Given the description of an element on the screen output the (x, y) to click on. 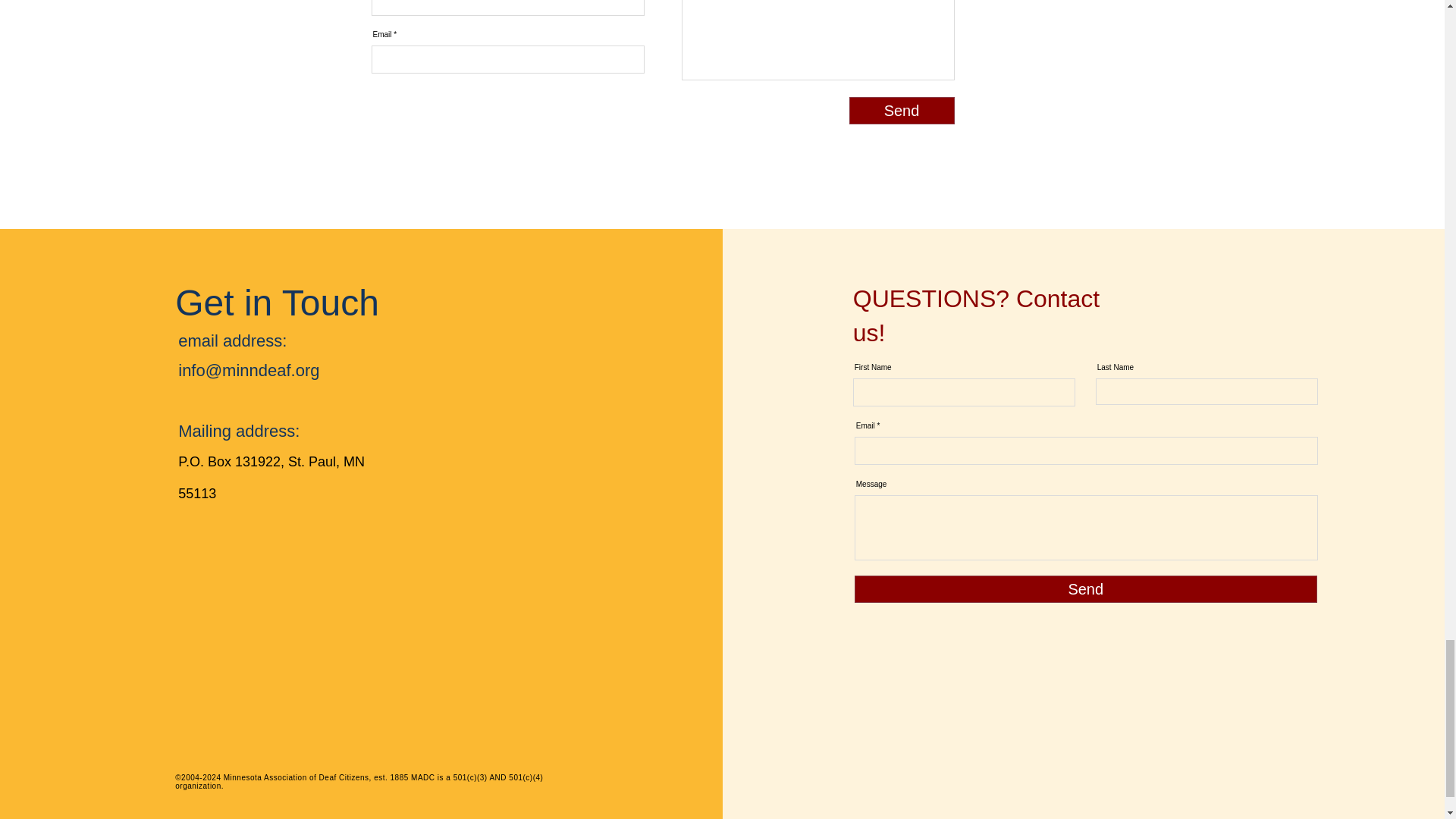
Send (901, 110)
Send (1085, 588)
